Given the description of an element on the screen output the (x, y) to click on. 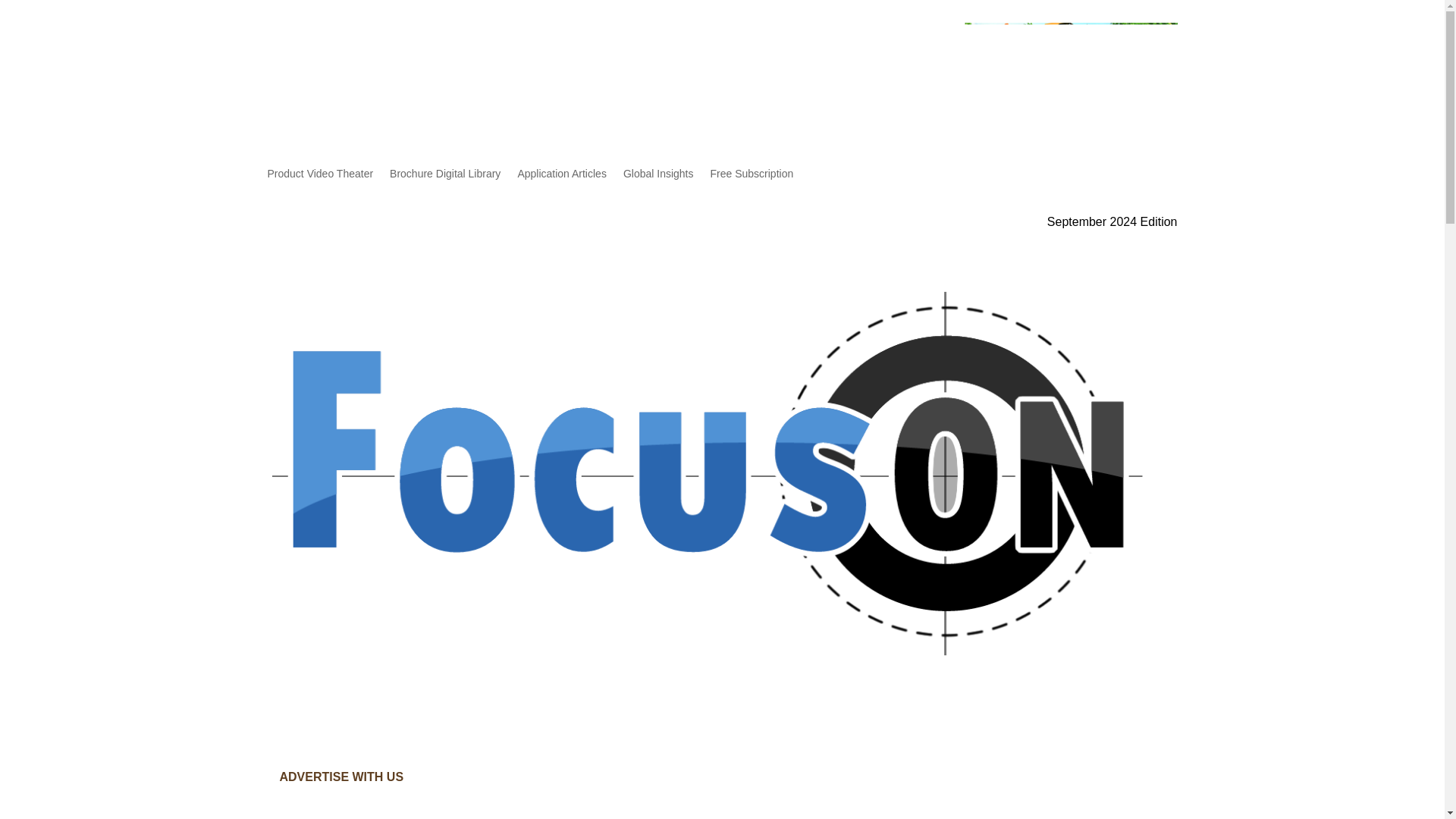
Application Articles (561, 176)
ADVERTISE WITH US (340, 777)
Free Subscription (751, 176)
Brochure Digital Library (445, 176)
Global Insights (658, 176)
Product Video Theater (319, 176)
